Given the description of an element on the screen output the (x, y) to click on. 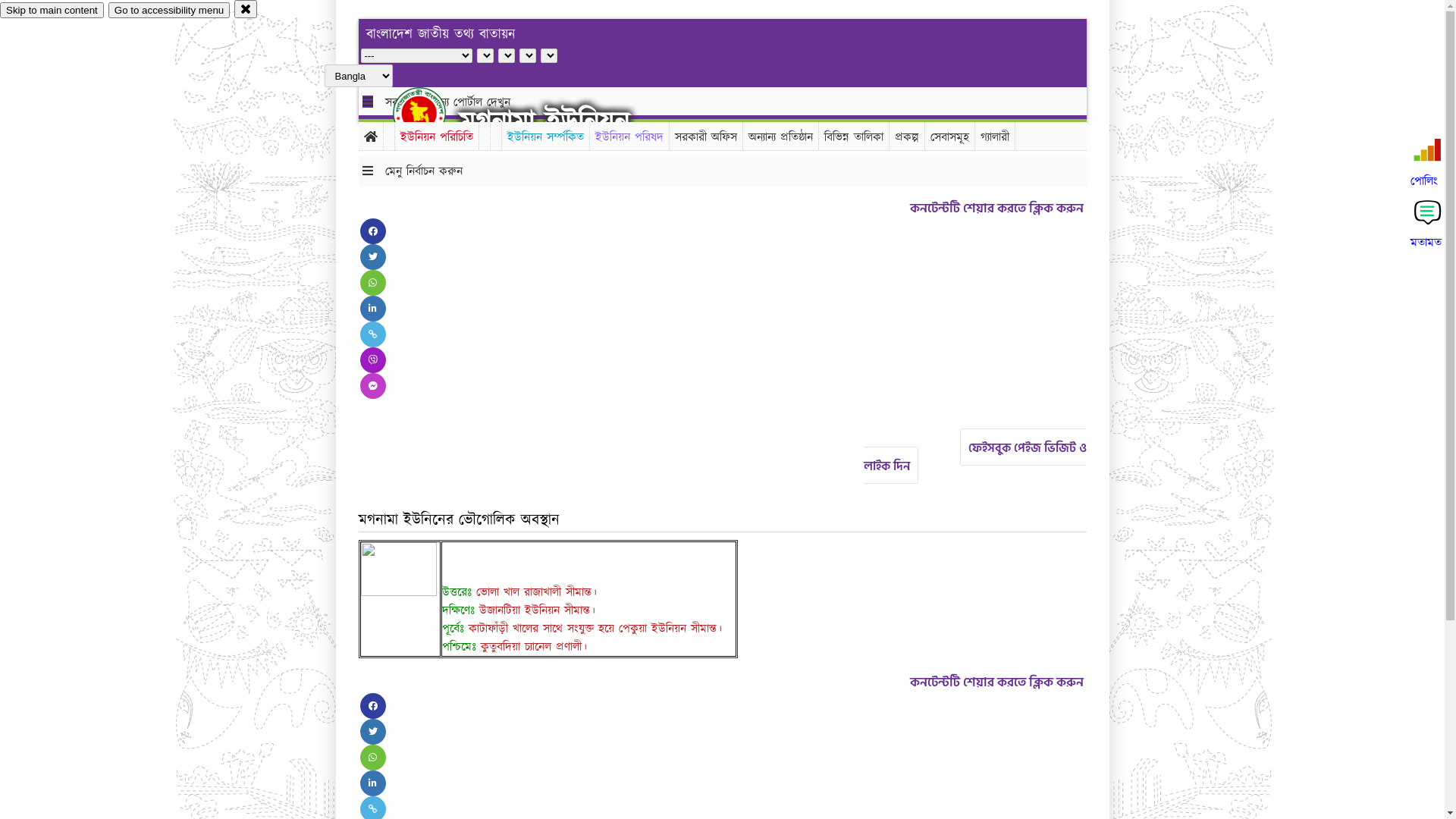

                
             Element type: hover (431, 112)
Skip to main content Element type: text (51, 10)
close Element type: hover (245, 9)
Go to accessibility menu Element type: text (168, 10)
